Given the description of an element on the screen output the (x, y) to click on. 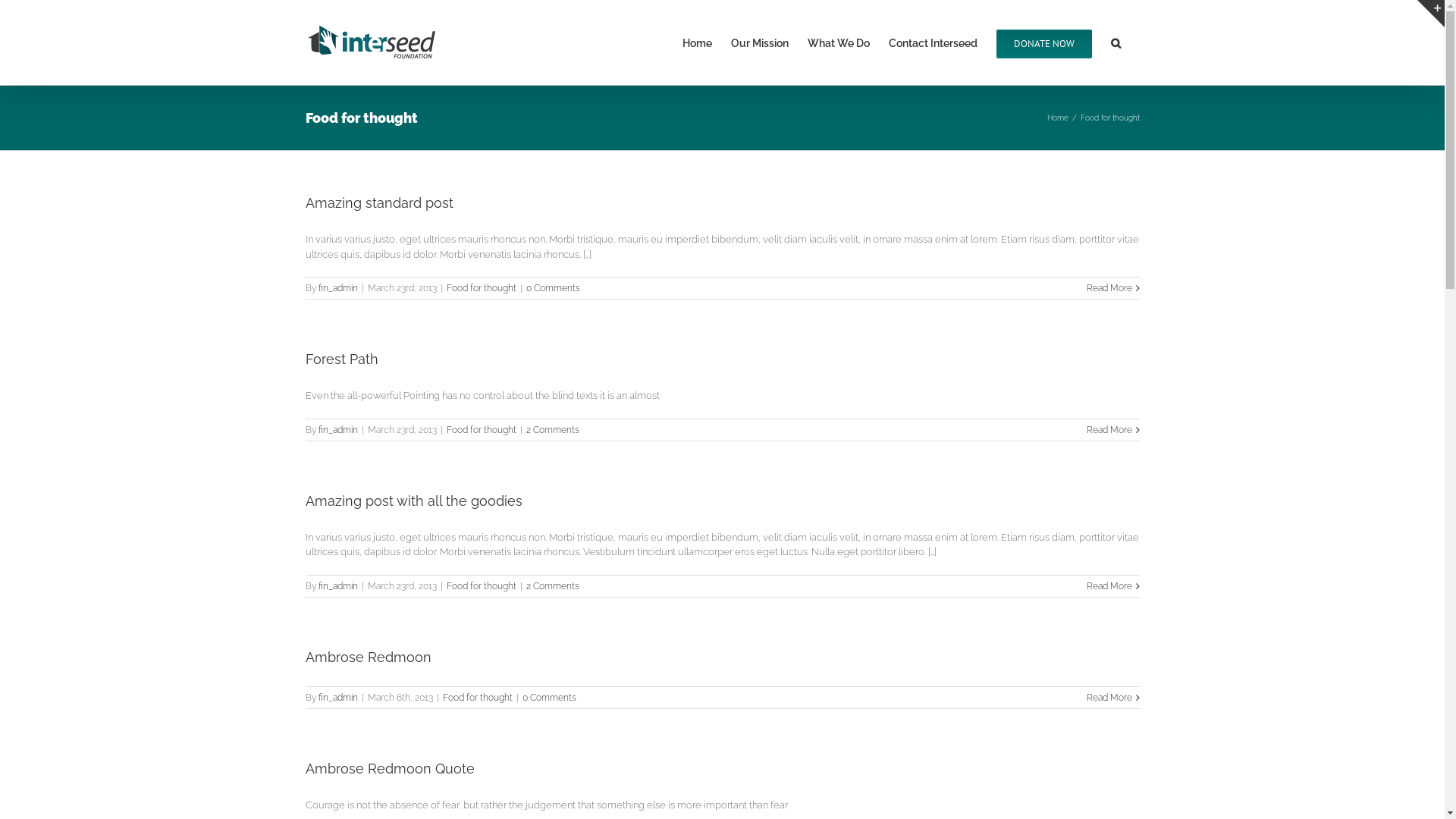
Ambrose Redmoon Element type: text (367, 657)
Food for thought Element type: text (480, 429)
Toggle Sliding Bar Area Element type: text (1430, 13)
fin_admin Element type: text (337, 287)
Read More Element type: text (1108, 696)
fin_admin Element type: text (337, 696)
Food for thought Element type: text (480, 287)
Forest Path Element type: text (340, 359)
Read More Element type: text (1108, 429)
Read More Element type: text (1108, 586)
DONATE NOW Element type: text (1044, 42)
0 Comments Element type: text (553, 287)
Contact Interseed Element type: text (932, 42)
fin_admin Element type: text (337, 585)
2 Comments Element type: text (552, 429)
Our Mission Element type: text (759, 42)
Amazing standard post Element type: text (378, 202)
Search Element type: hover (1115, 42)
2 Comments Element type: text (552, 585)
Food for thought Element type: text (477, 696)
fin_admin Element type: text (337, 429)
Home Element type: text (697, 42)
0 Comments Element type: text (548, 696)
What We Do Element type: text (837, 42)
Amazing post with all the goodies Element type: text (412, 500)
Read More Element type: text (1108, 287)
Food for thought Element type: text (480, 585)
Home Element type: text (1056, 117)
Ambrose Redmoon Quote Element type: text (388, 767)
